Given the description of an element on the screen output the (x, y) to click on. 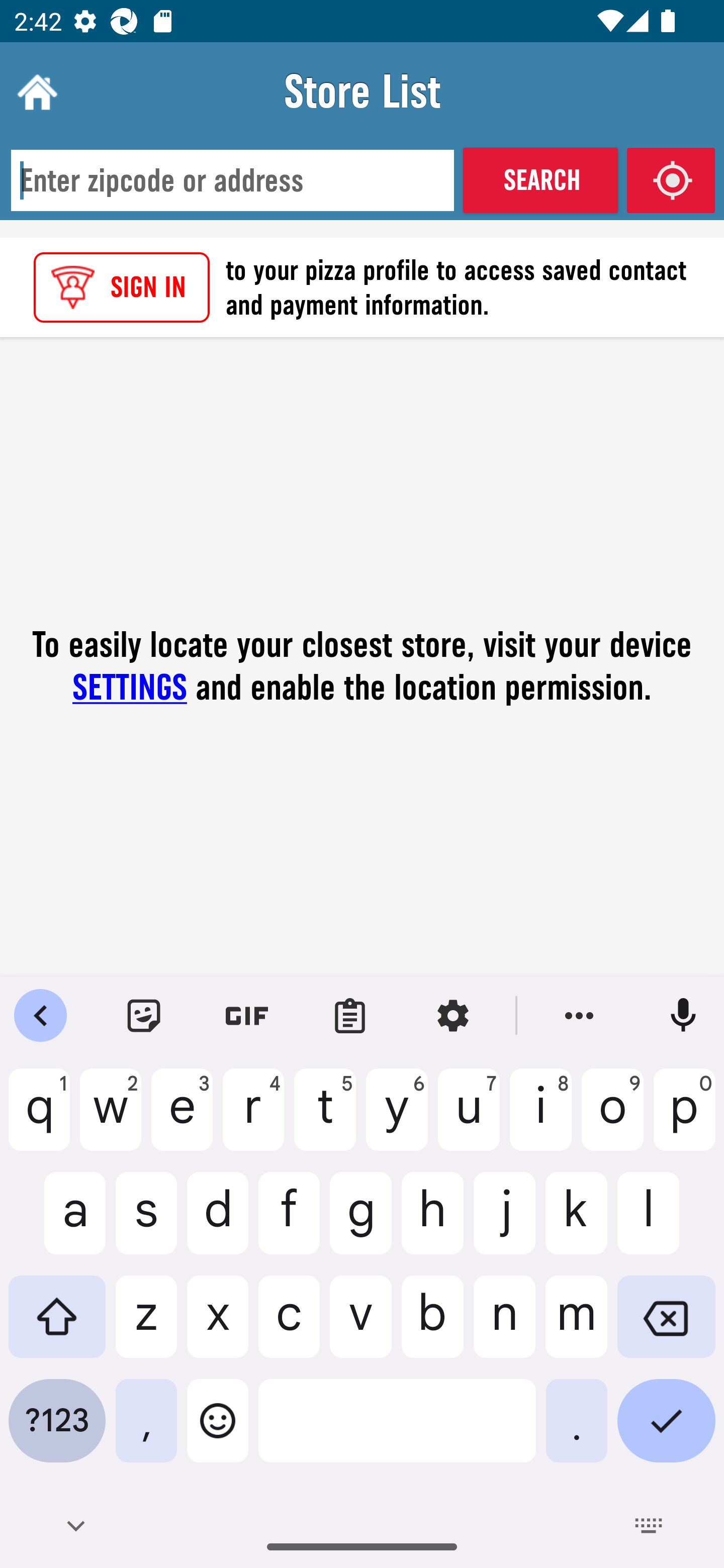
Home (35, 91)
SEARCH (540, 180)
Use Current Location (670, 180)
Enter zipcode or address (231, 180)
SIGN IN (121, 287)
